Given the description of an element on the screen output the (x, y) to click on. 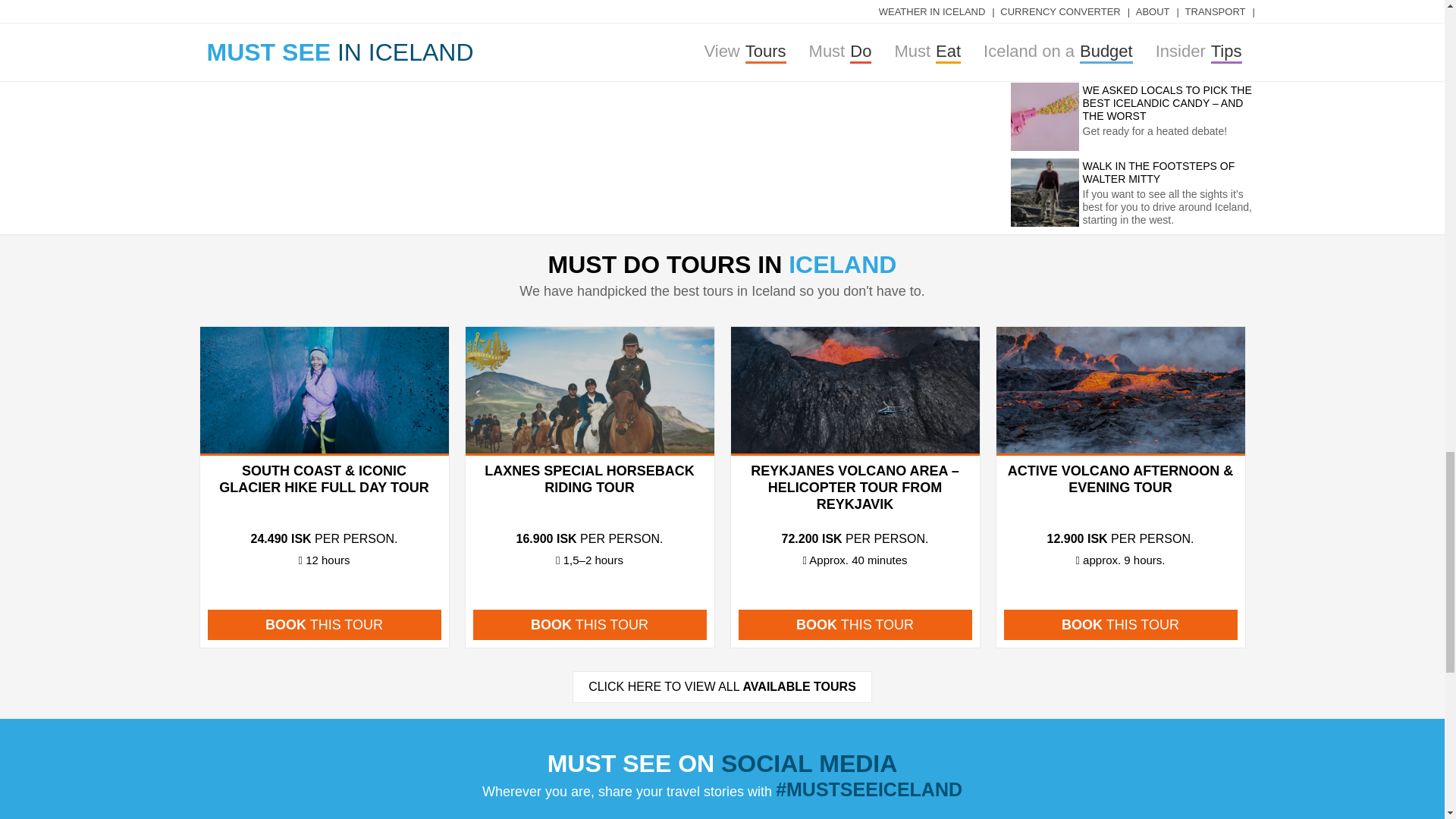
Click to share on Facebook (824, 9)
Click to share on X (933, 9)
Click to print (906, 9)
Click to share on Reddit (879, 9)
Click to share on LinkedIn (852, 9)
